Given the description of an element on the screen output the (x, y) to click on. 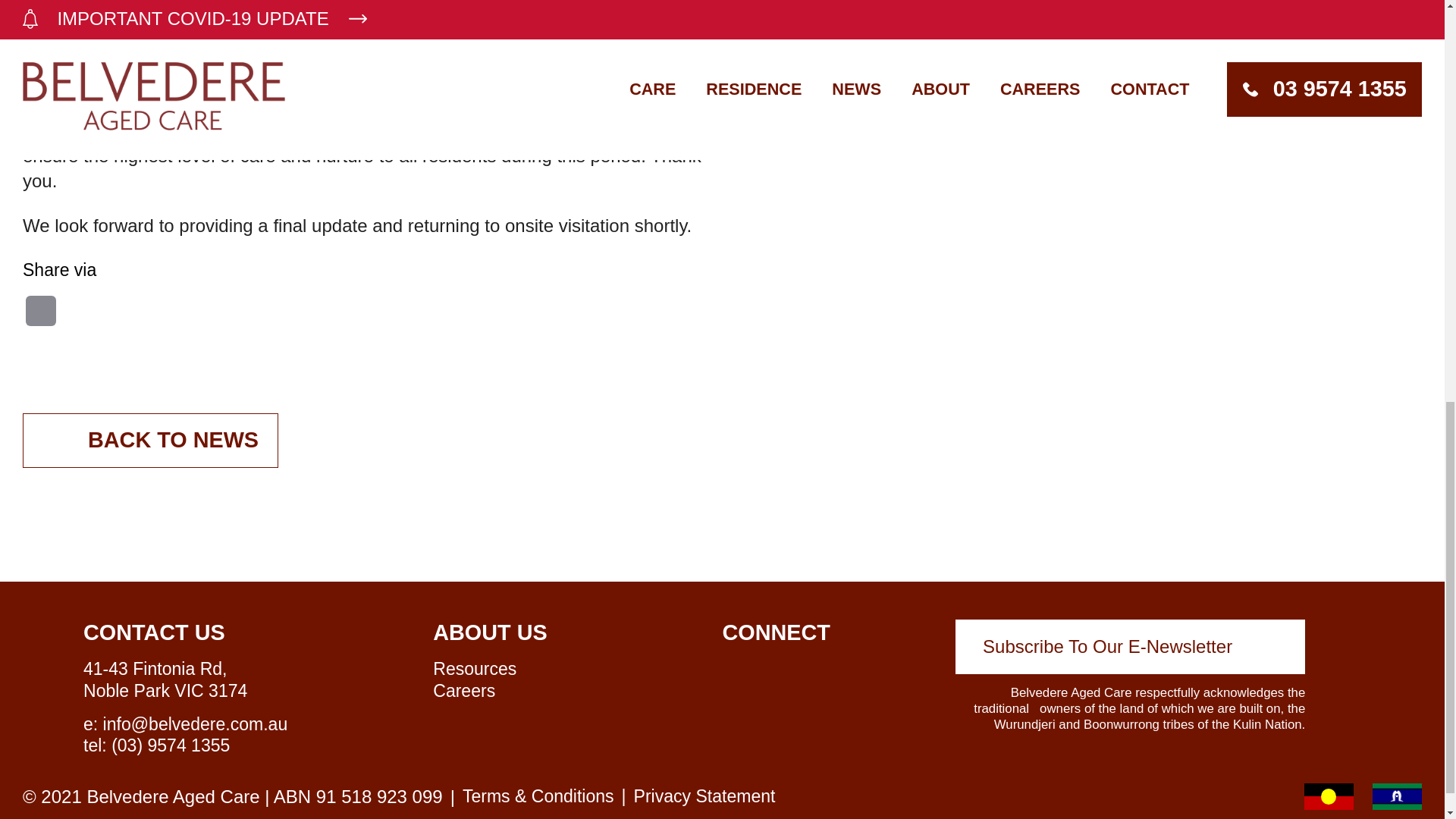
Privacy Statement (704, 795)
Resources (474, 668)
Careers (463, 690)
BACK TO NEWS (150, 440)
